Given the description of an element on the screen output the (x, y) to click on. 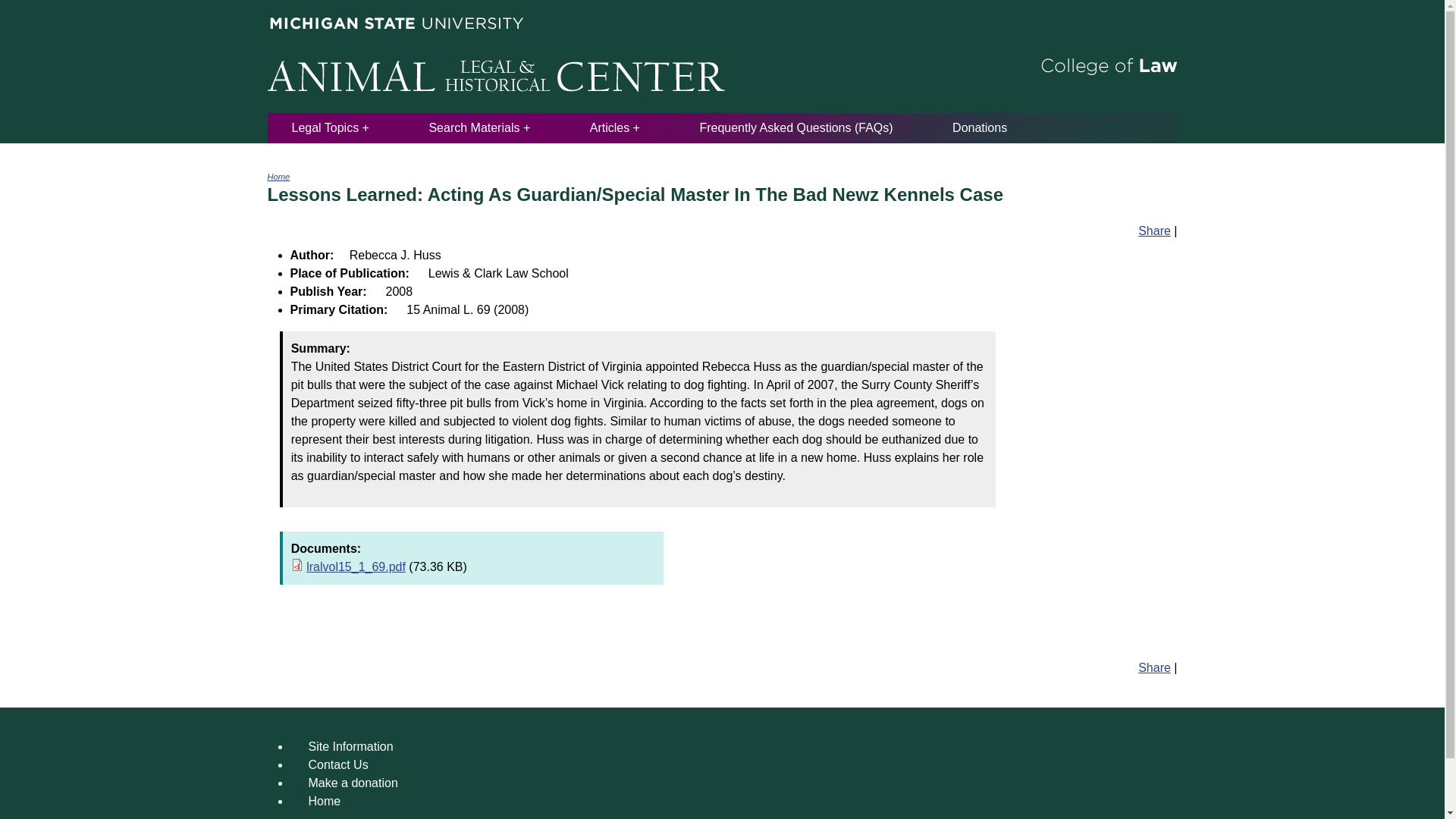
Legal Topics (330, 127)
Contact Us (337, 764)
Home (323, 800)
Site Information (349, 746)
Search Materials (479, 127)
Articles (615, 127)
Share (1154, 230)
Make a donation (351, 782)
Share (1154, 667)
Home (277, 175)
